Given the description of an element on the screen output the (x, y) to click on. 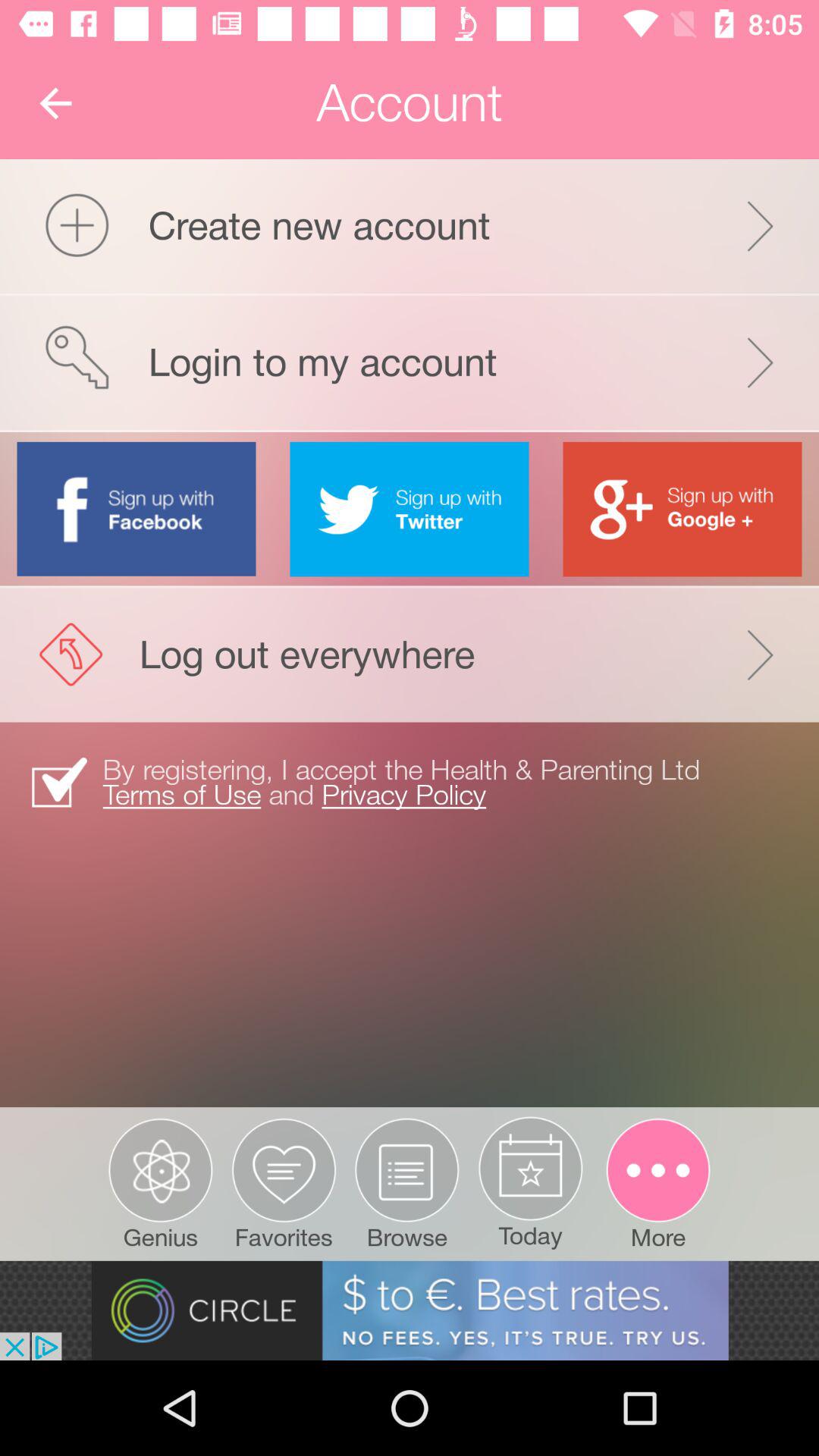
sign in with google plus (682, 508)
